Given the description of an element on the screen output the (x, y) to click on. 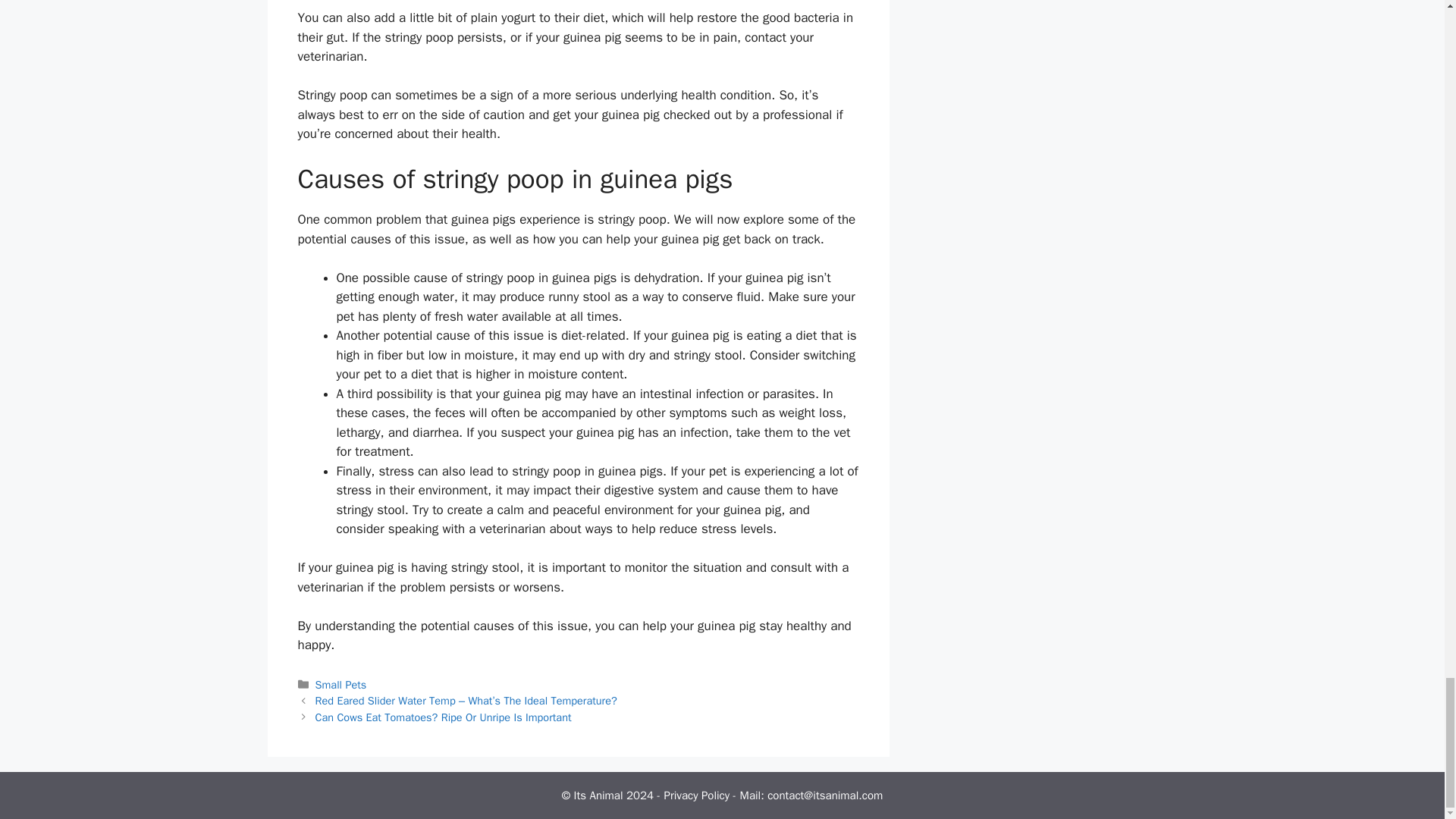
Privacy Policy (696, 795)
Small Pets (340, 684)
Can Cows Eat Tomatoes? Ripe Or Unripe Is Important (443, 716)
